Given the description of an element on the screen output the (x, y) to click on. 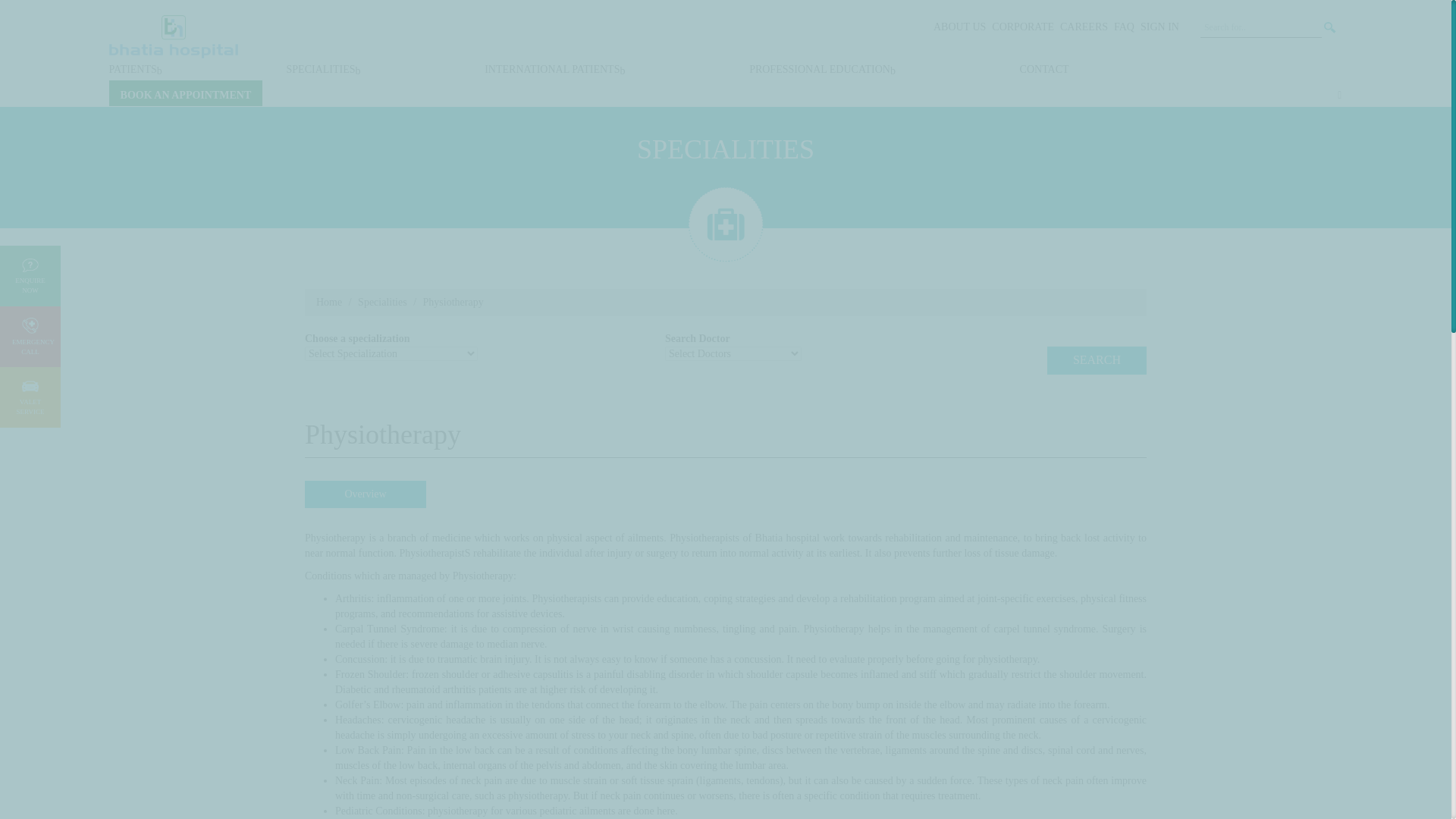
ABOUT US (959, 26)
Go To Global Search (1329, 26)
PATIENTS (136, 67)
enquire-logo (30, 264)
emergency-call-logo (30, 325)
CORPORATE (1022, 26)
parking-call-logo (30, 386)
CAREERS (1083, 26)
specialization (473, 338)
SPECIALITIES (323, 67)
